Given the description of an element on the screen output the (x, y) to click on. 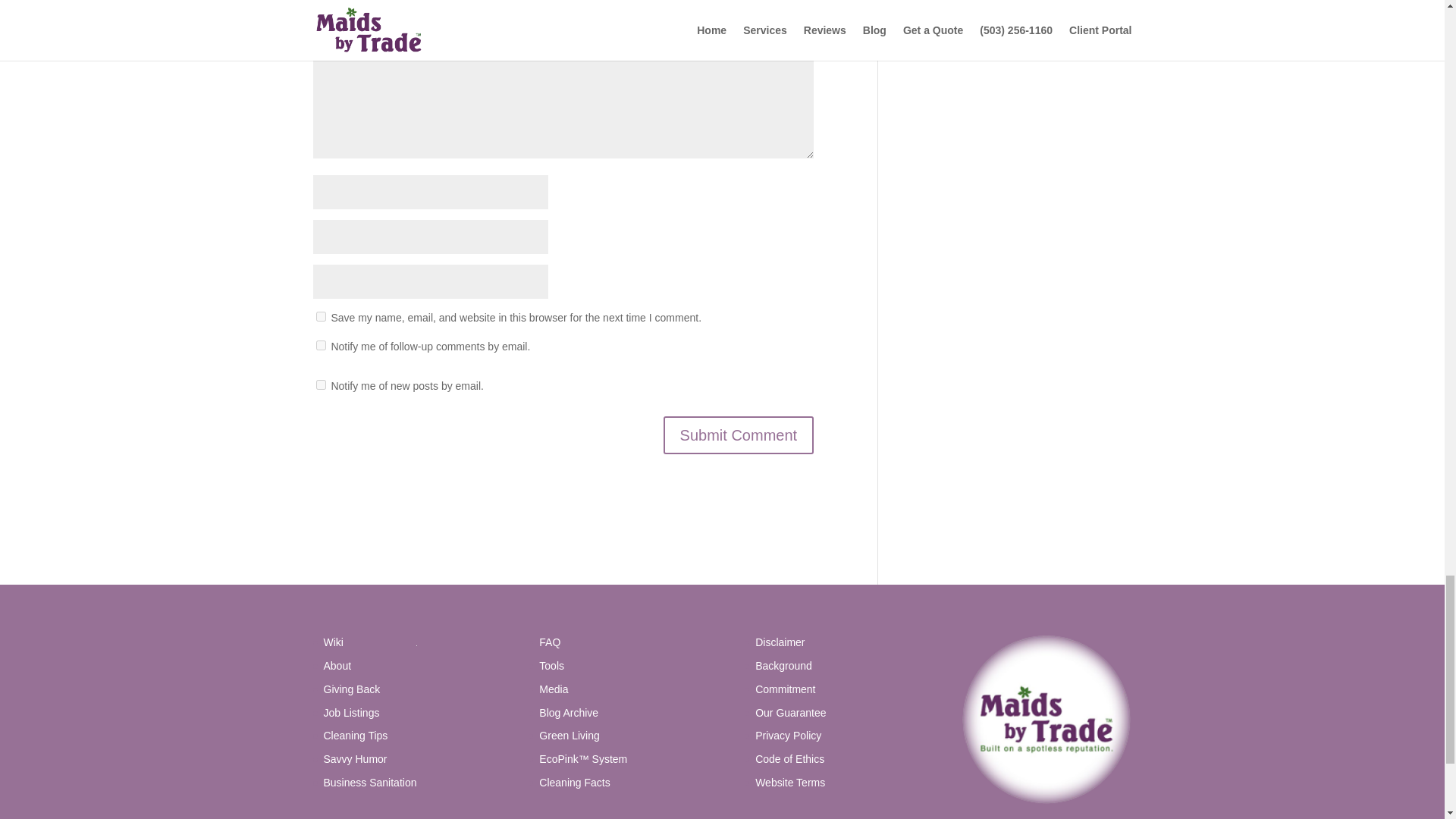
Submit Comment (738, 435)
subscribe (319, 384)
Submit Comment (738, 435)
subscribe (319, 345)
Job Listings (350, 712)
yes (319, 316)
Wiki (332, 642)
Giving Back (351, 689)
About (336, 665)
